Given the description of an element on the screen output the (x, y) to click on. 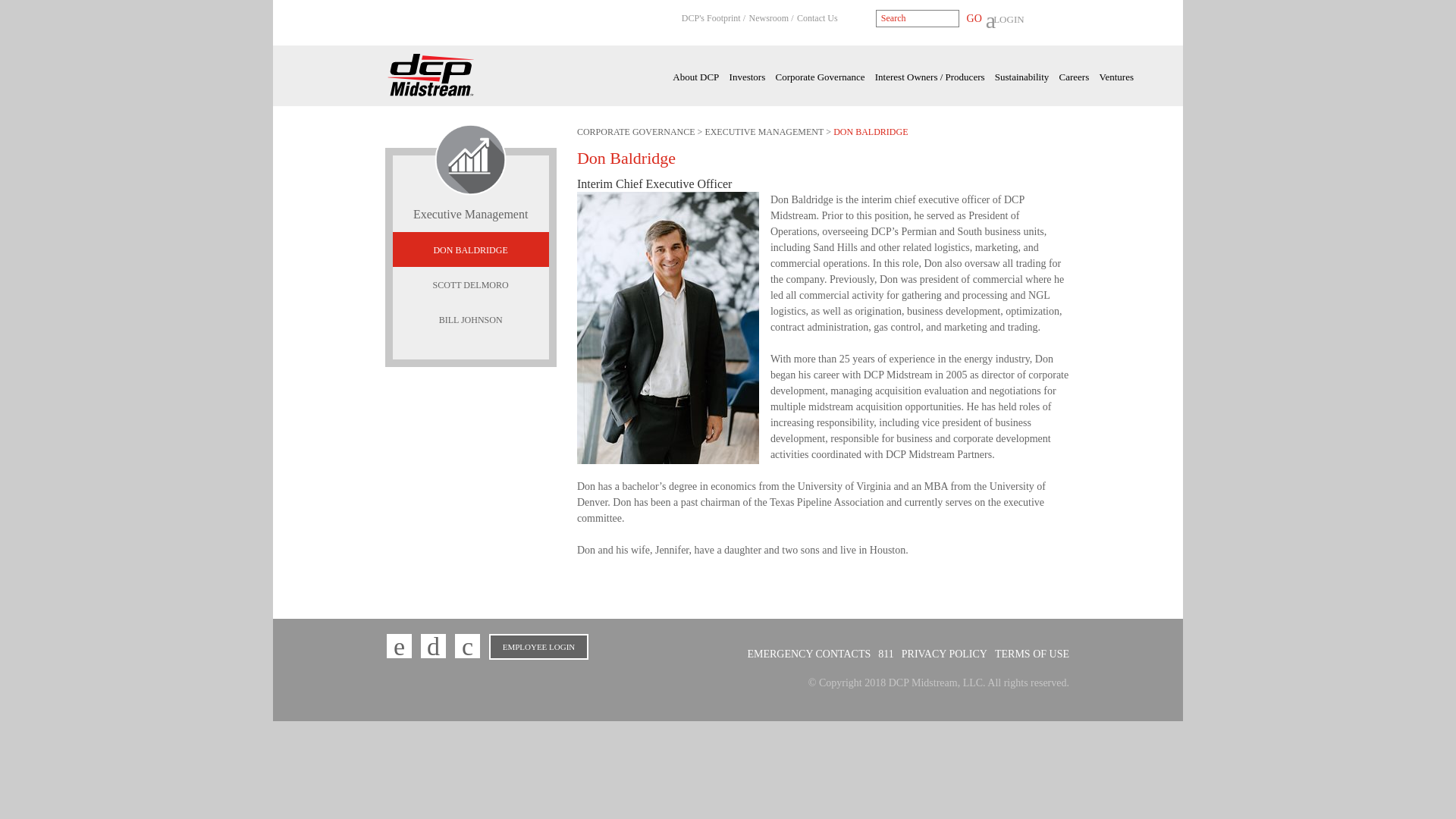
Investors (747, 76)
Sustainability (1021, 76)
Corporate Governance (819, 76)
Careers (1074, 76)
Contact Us (817, 18)
DCP's Footprint (713, 18)
GO (970, 18)
GO (970, 18)
LOGIN (1005, 19)
About DCP (695, 76)
Newsroom (771, 18)
Ventures (1116, 76)
